Given the description of an element on the screen output the (x, y) to click on. 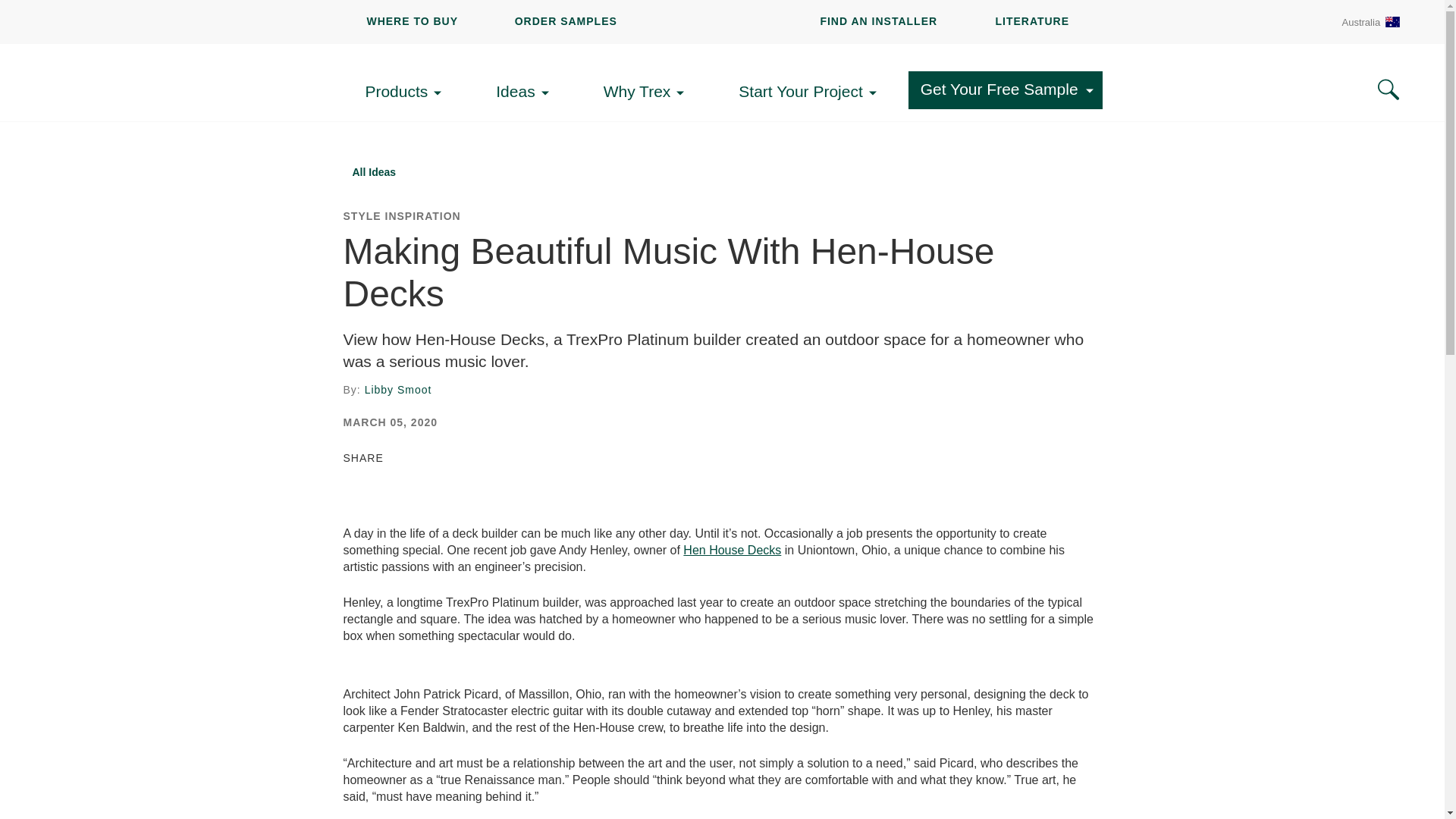
FIND AN INSTALLER (878, 21)
Products (407, 92)
LITERATURE (1031, 21)
Ideas (526, 92)
WHERE TO BUY (412, 21)
Start Your Project (811, 92)
ORDER SAMPLES (566, 21)
Why Trex (649, 92)
